Given the description of an element on the screen output the (x, y) to click on. 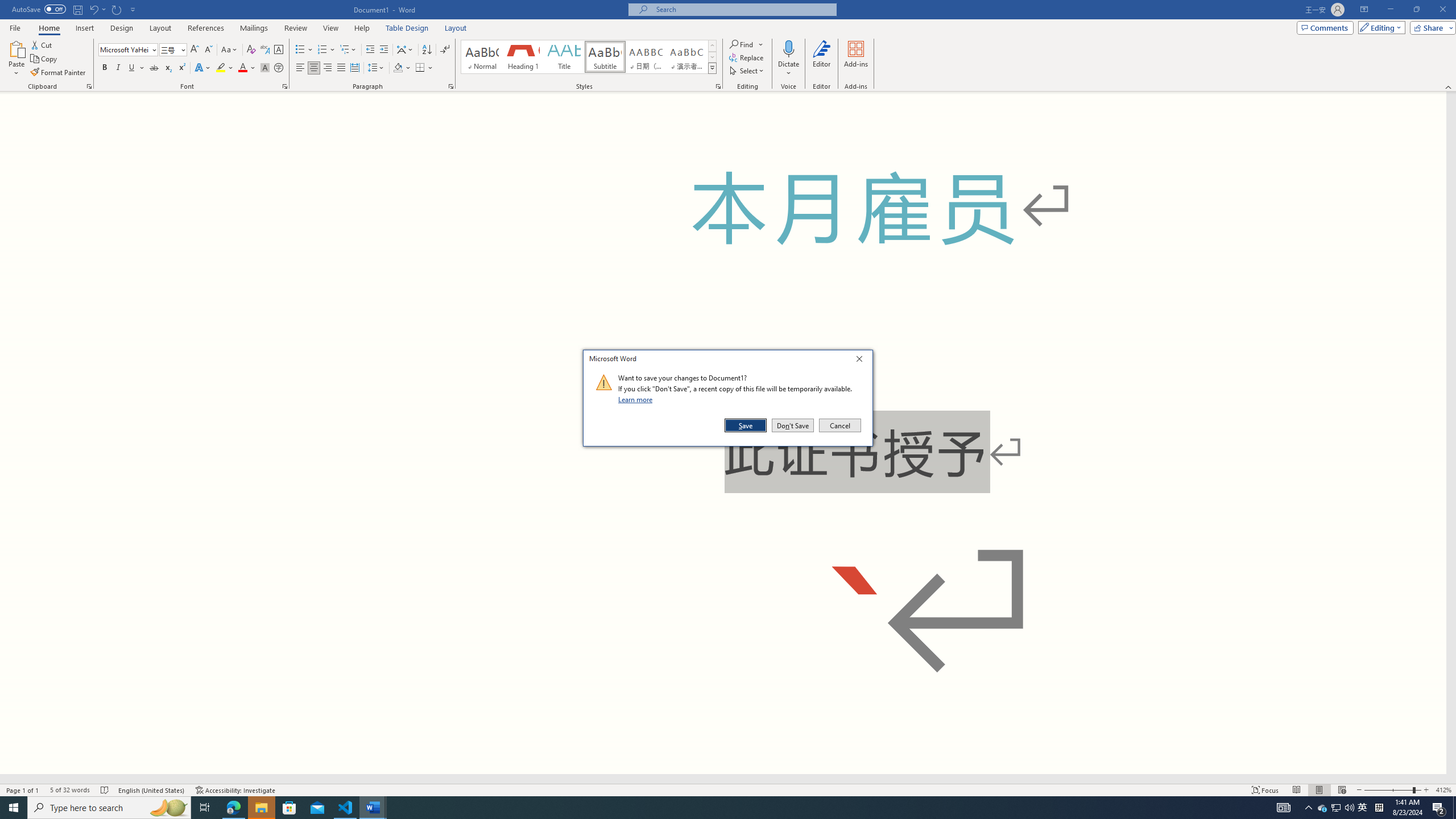
Search highlights icon opens search home window (167, 807)
Styles... (717, 85)
Clear Formatting (250, 49)
Microsoft search (742, 9)
Copy (45, 58)
Word - 2 running windows (373, 807)
Superscript (180, 67)
Asian Layout (405, 49)
